Given the description of an element on the screen output the (x, y) to click on. 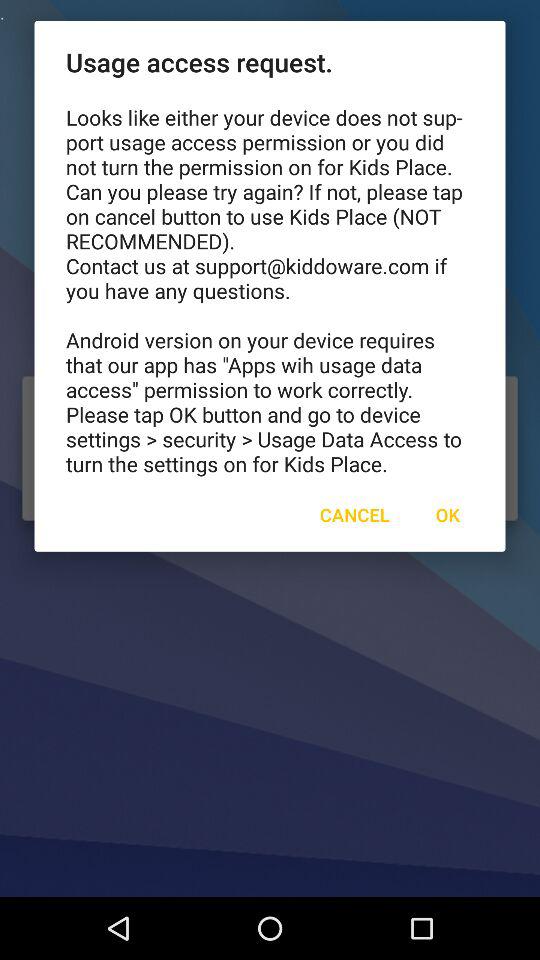
swipe until cancel (354, 514)
